Given the description of an element on the screen output the (x, y) to click on. 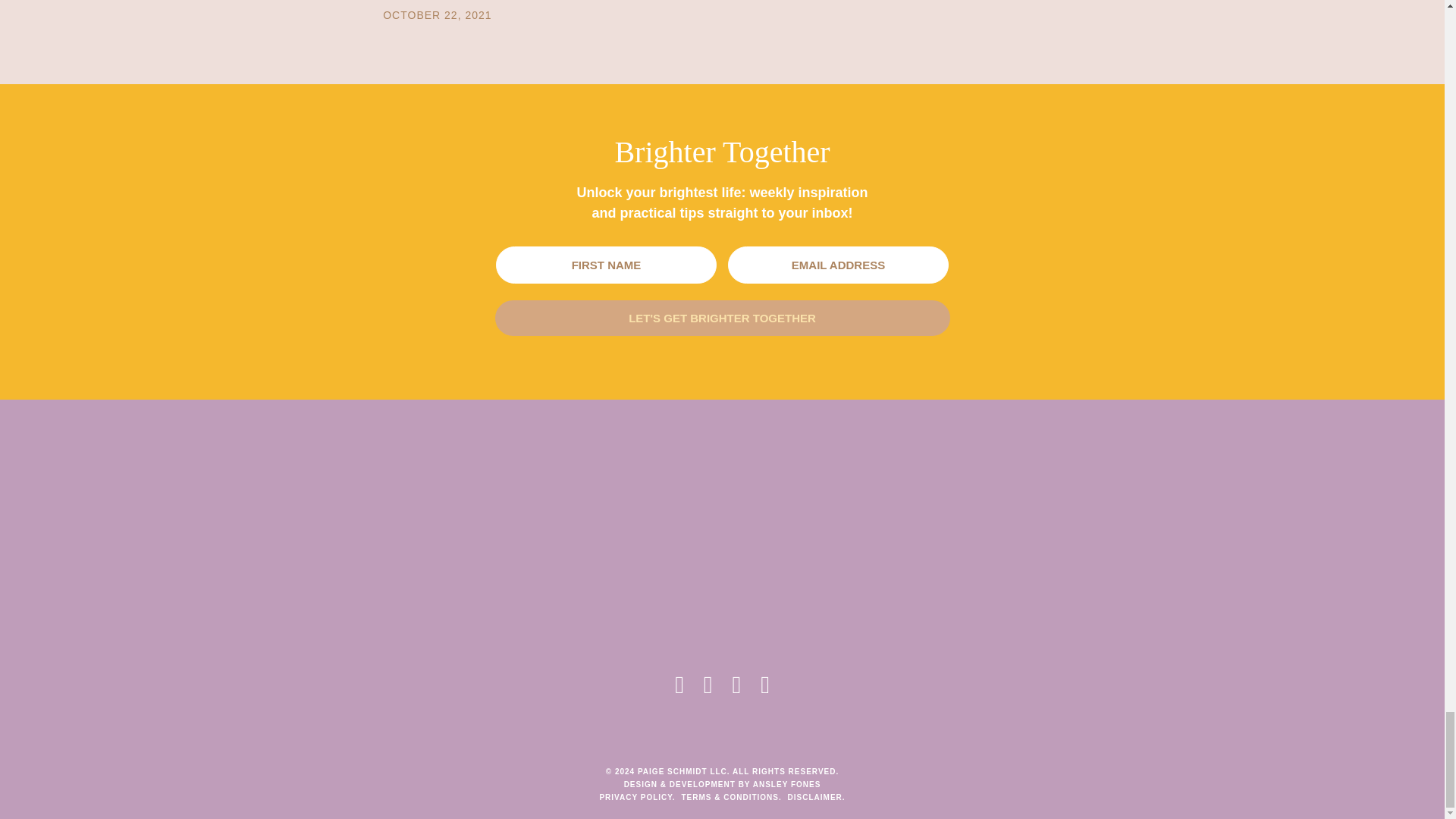
Let's Get Brighter Together (722, 317)
